Given the description of an element on the screen output the (x, y) to click on. 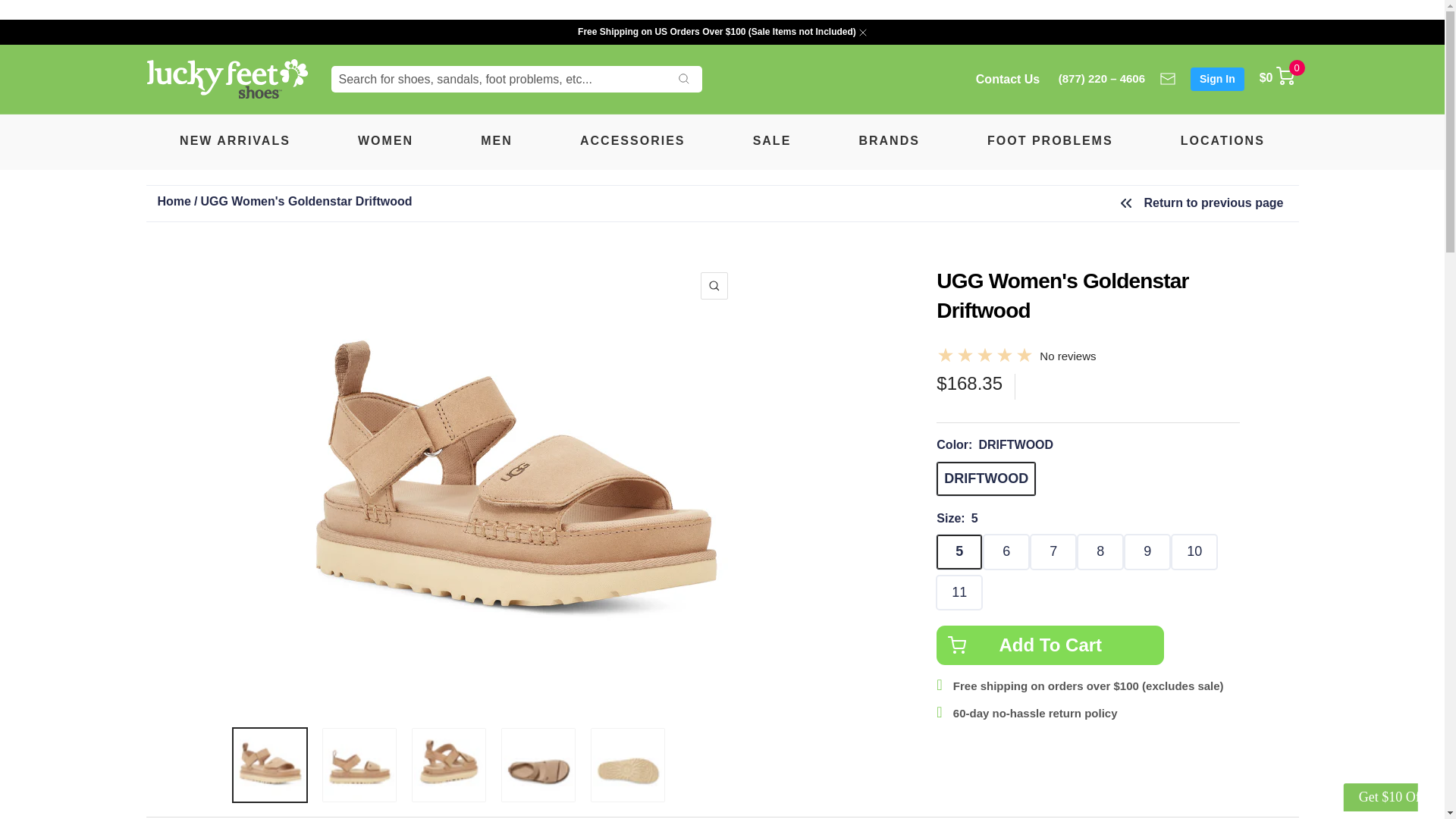
MEN (496, 140)
BRANDS (888, 140)
WOMEN (385, 140)
Return to previous page (1199, 202)
LOCATIONS (1222, 140)
Add To Cart (1049, 645)
NEW ARRIVALS (234, 140)
Zoom (714, 285)
Description (280, 818)
Lucky Feet Shoes (226, 78)
ACCESSORIES (631, 140)
powr mailchimp email signup (1362, 791)
